Given the description of an element on the screen output the (x, y) to click on. 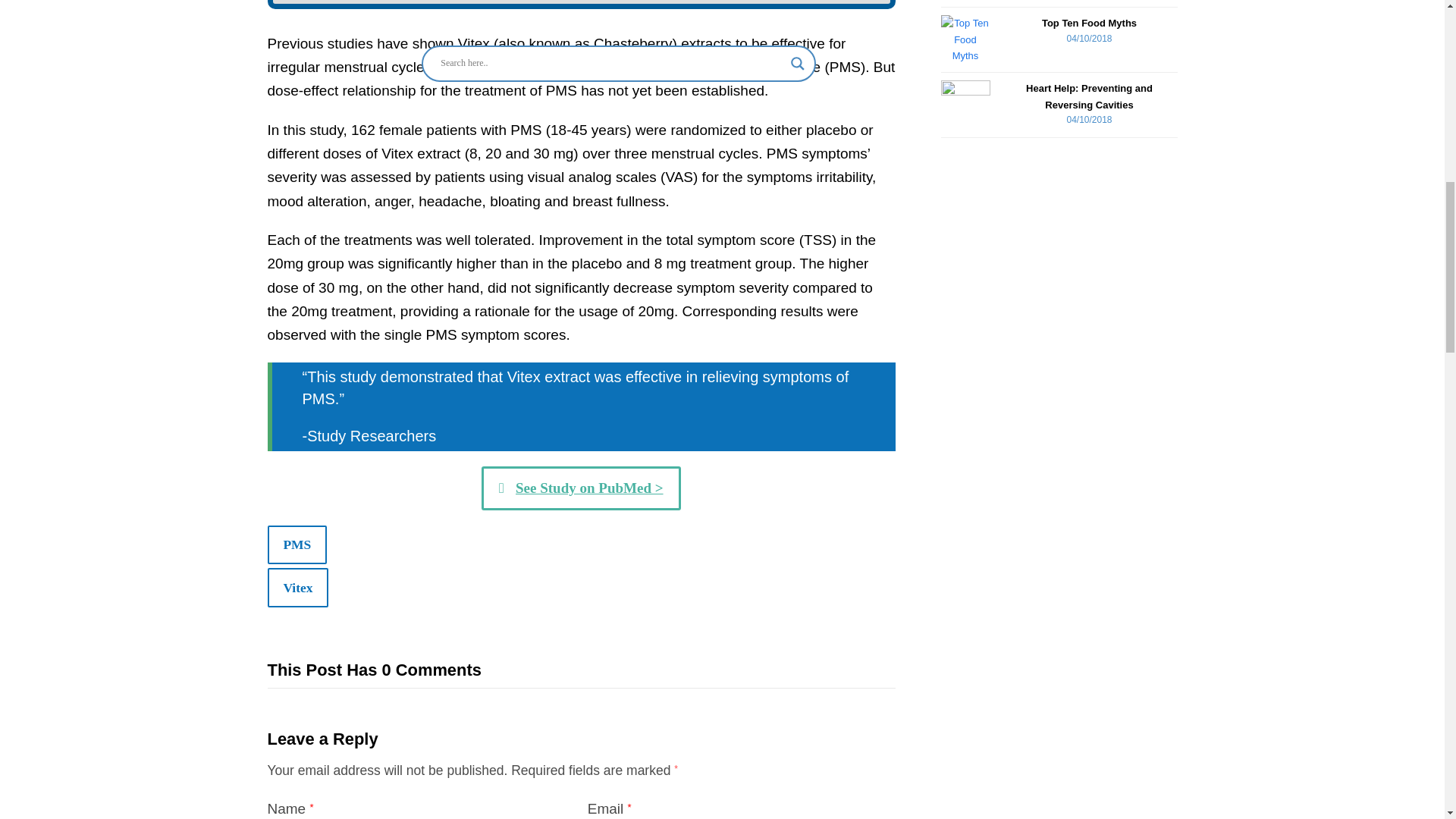
Top Ten Food Myths (965, 39)
Heart Help: Preventing and Reversing Cavities (965, 104)
